Given the description of an element on the screen output the (x, y) to click on. 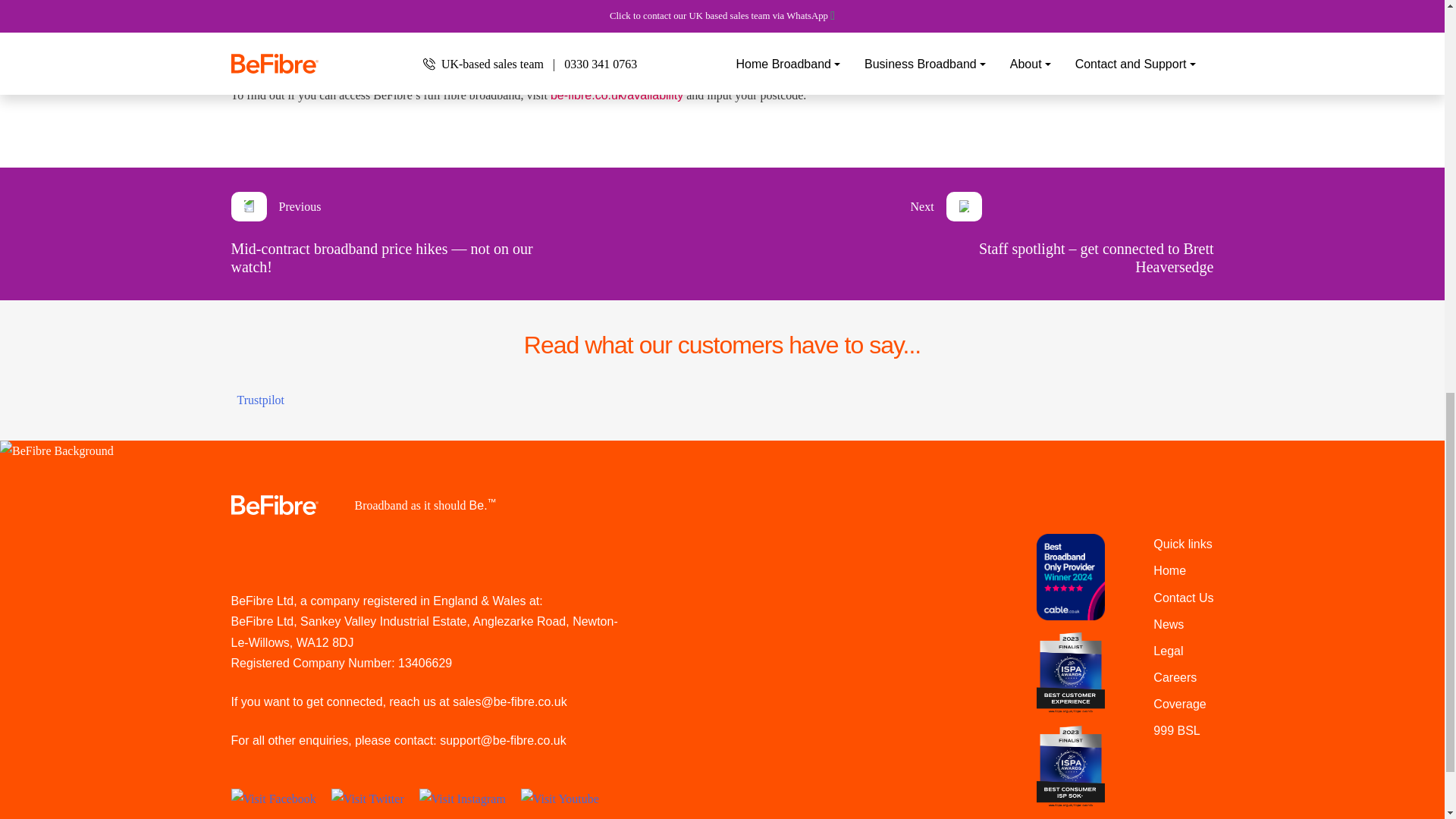
Careers (1174, 676)
Legal (1167, 650)
Trustpilot (259, 399)
Home (1169, 570)
Contact Us (1182, 597)
News (1168, 624)
